Given the description of an element on the screen output the (x, y) to click on. 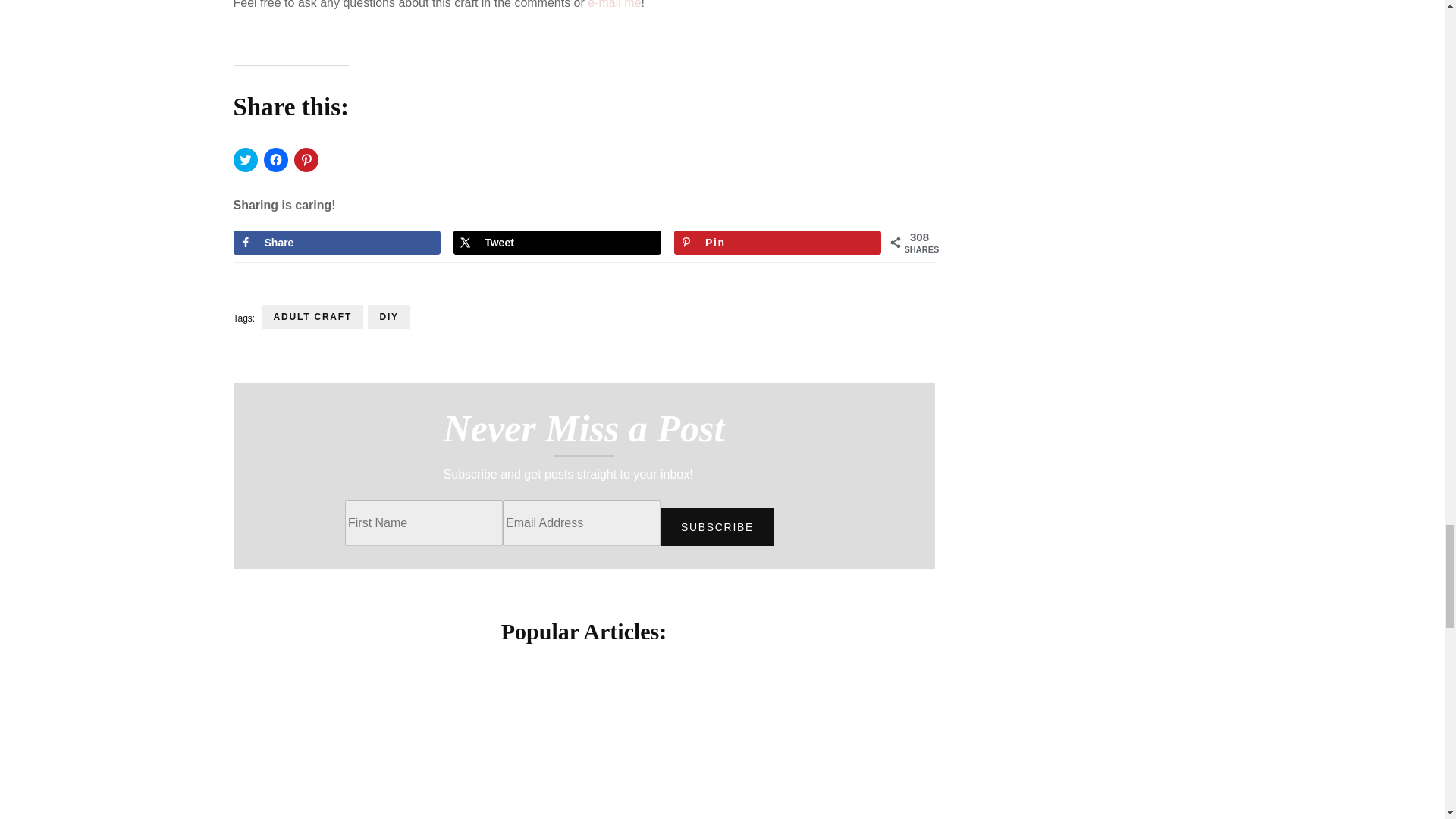
Click to share on Twitter (244, 159)
Subscribe (717, 526)
Click to share on Pinterest (306, 159)
Click to share on Facebook (275, 159)
Share on Facebook (336, 242)
Save to Pinterest (778, 242)
Share on X (556, 242)
